Given the description of an element on the screen output the (x, y) to click on. 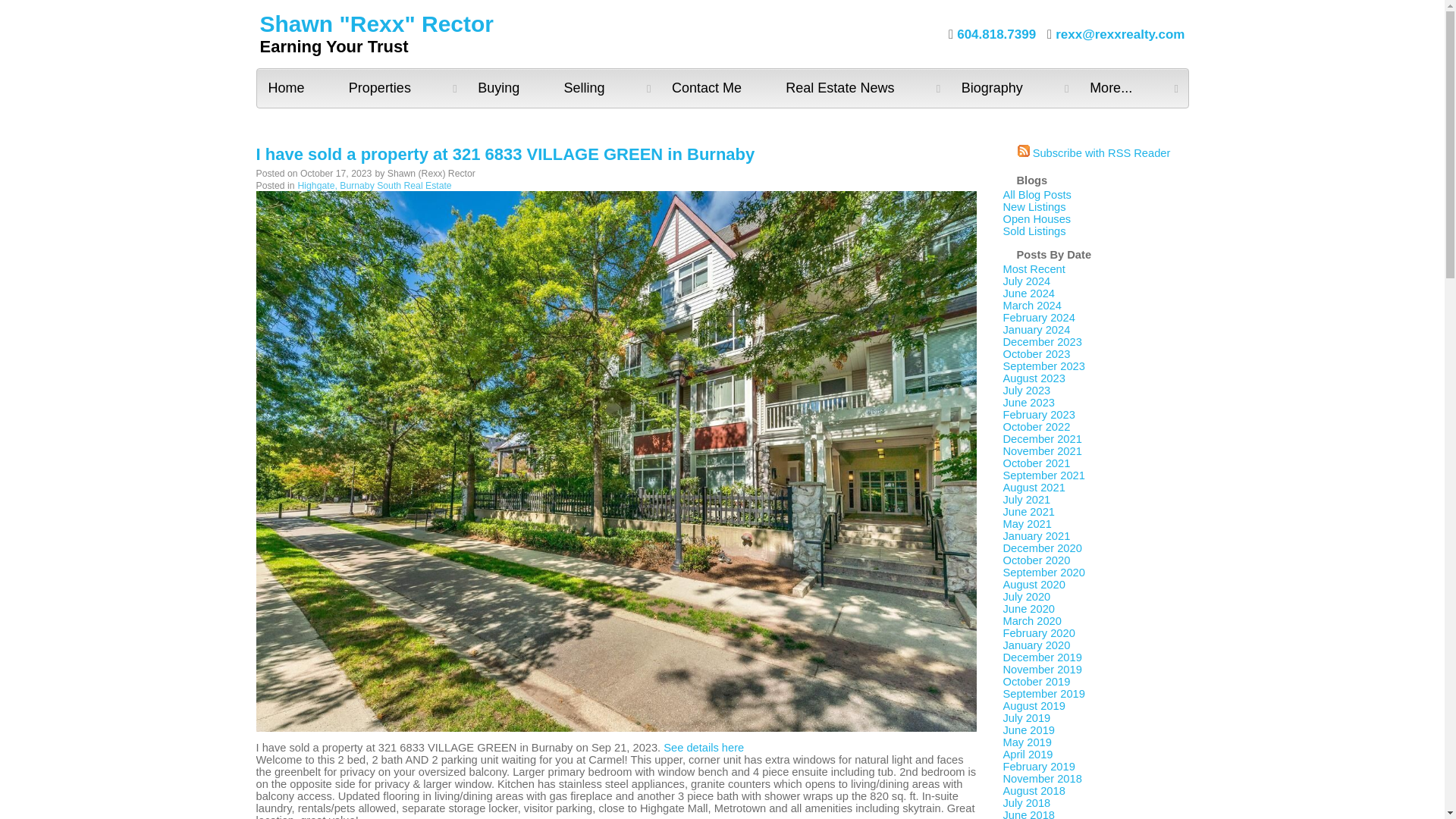
Buying (508, 87)
July 2024 (1026, 281)
August 2023 (1033, 378)
October 2023 (1036, 354)
Real Estate News (861, 87)
Selling (607, 87)
See details here (703, 747)
Most Recent (1033, 268)
Sold Listings (1034, 231)
July 2023 (1026, 390)
All Blog Posts (1036, 194)
Highgate, Burnaby South Real Estate (374, 185)
Open Houses (1036, 218)
December 2023 (1042, 341)
New Listings (1034, 206)
